Given the description of an element on the screen output the (x, y) to click on. 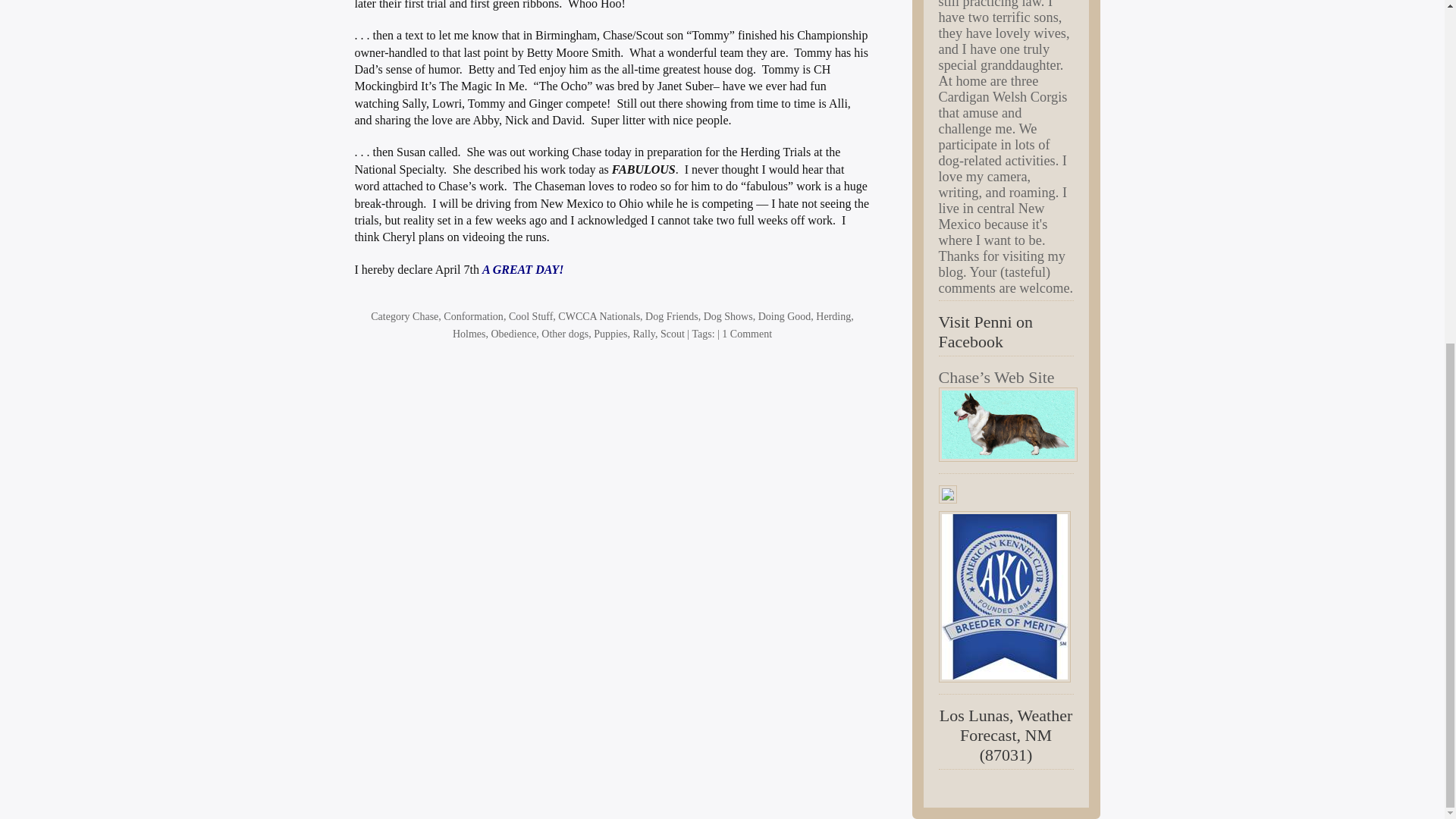
Scout (672, 333)
Holmes (469, 333)
Doing Good (784, 316)
Dog Shows (727, 316)
CWCCA Nationals (598, 316)
Rally (644, 333)
Obedience (514, 333)
Cool Stuff (530, 316)
Visit Penni on Facebook (986, 331)
Herding (832, 316)
